Given the description of an element on the screen output the (x, y) to click on. 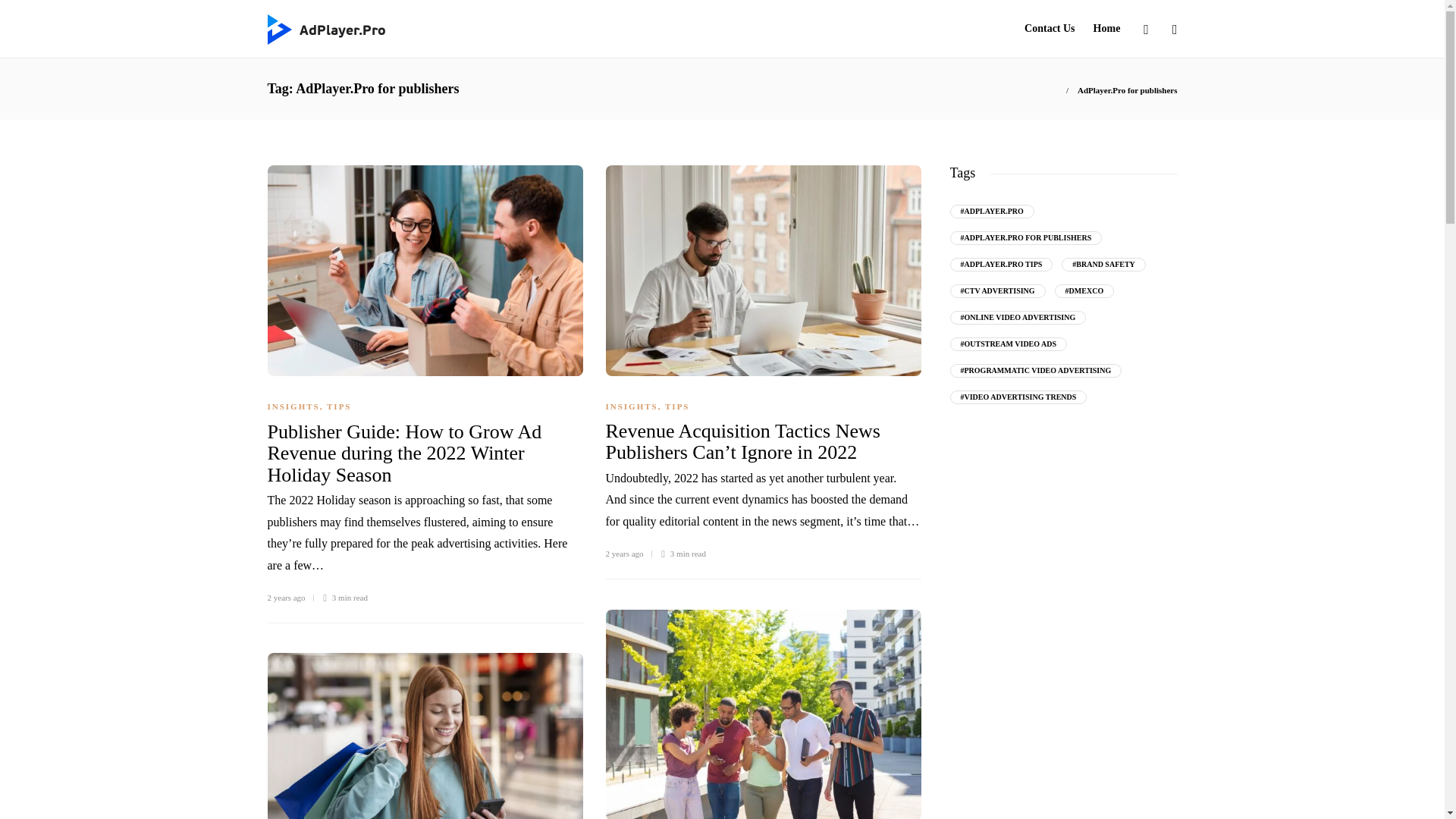
2 years ago (624, 552)
INSIGHTS (631, 406)
2 years ago (285, 596)
INSIGHTS (292, 406)
TIPS (338, 406)
TIPS (676, 406)
